Given the description of an element on the screen output the (x, y) to click on. 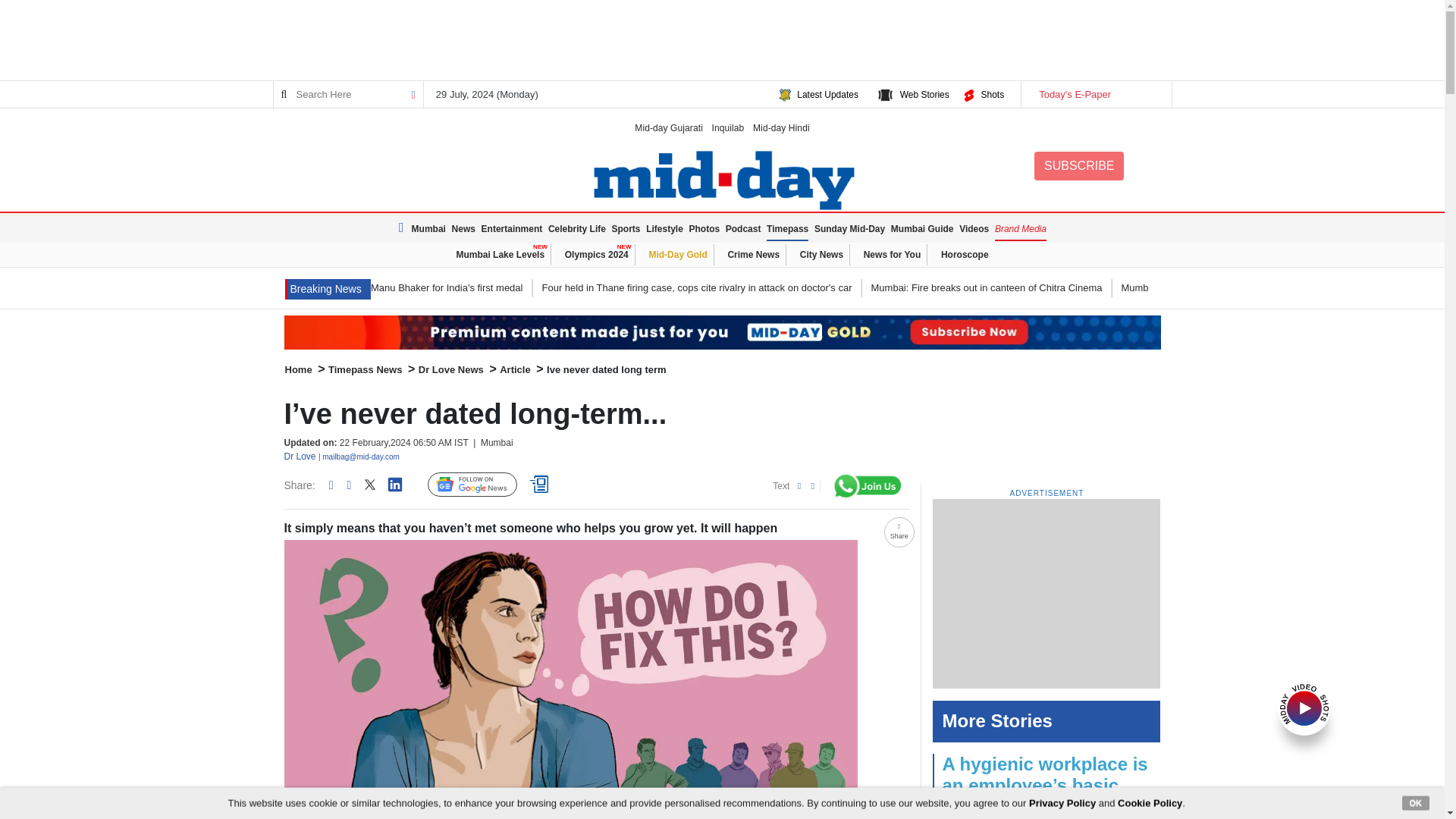
Mid-day Gujarati (668, 127)
Mid-day Hindi (780, 127)
Today's E-Paper (1095, 94)
Quick Reads (541, 485)
Inquilab (728, 127)
Web Stories (924, 94)
Latest Updates (827, 94)
Midday Shot Videos (1304, 706)
SUBSCRIBE (1078, 165)
Shots (991, 94)
Subscription (721, 332)
Latest News (328, 289)
Latest News (403, 227)
